Given the description of an element on the screen output the (x, y) to click on. 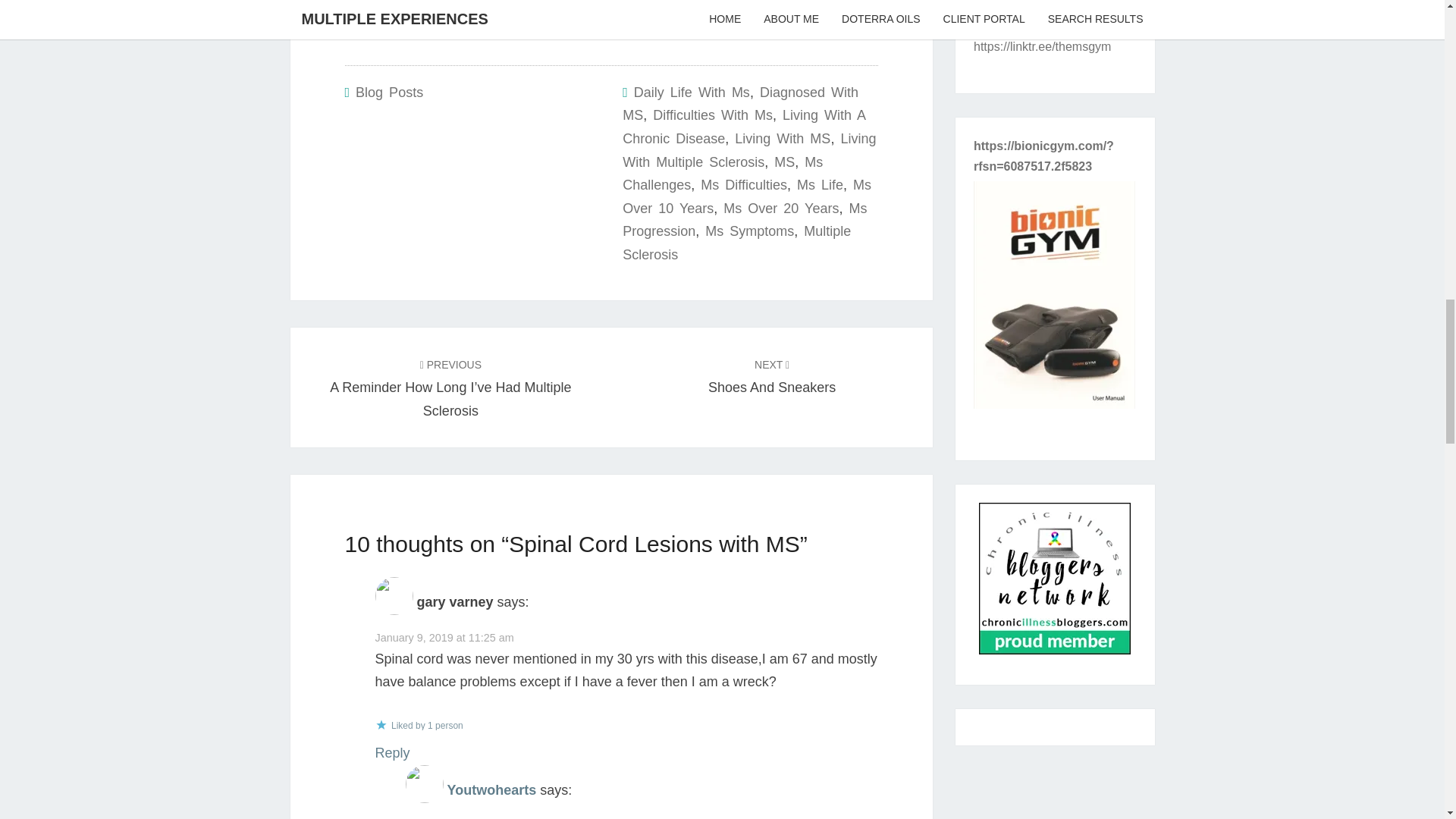
Ms Life (819, 184)
Living With MS (782, 138)
Youtwohearts (491, 789)
Diagnosed With MS (741, 104)
Share (389, 23)
Multiple Sclerosis (736, 242)
WordPress (358, 23)
MS (784, 161)
Chronic Illness Bloggers (1054, 583)
Ms Difficulties (743, 184)
Living With A Chronic Disease (743, 126)
Ms Over 10 Years (746, 196)
Ms Progression (744, 219)
Reply (771, 375)
